Given the description of an element on the screen output the (x, y) to click on. 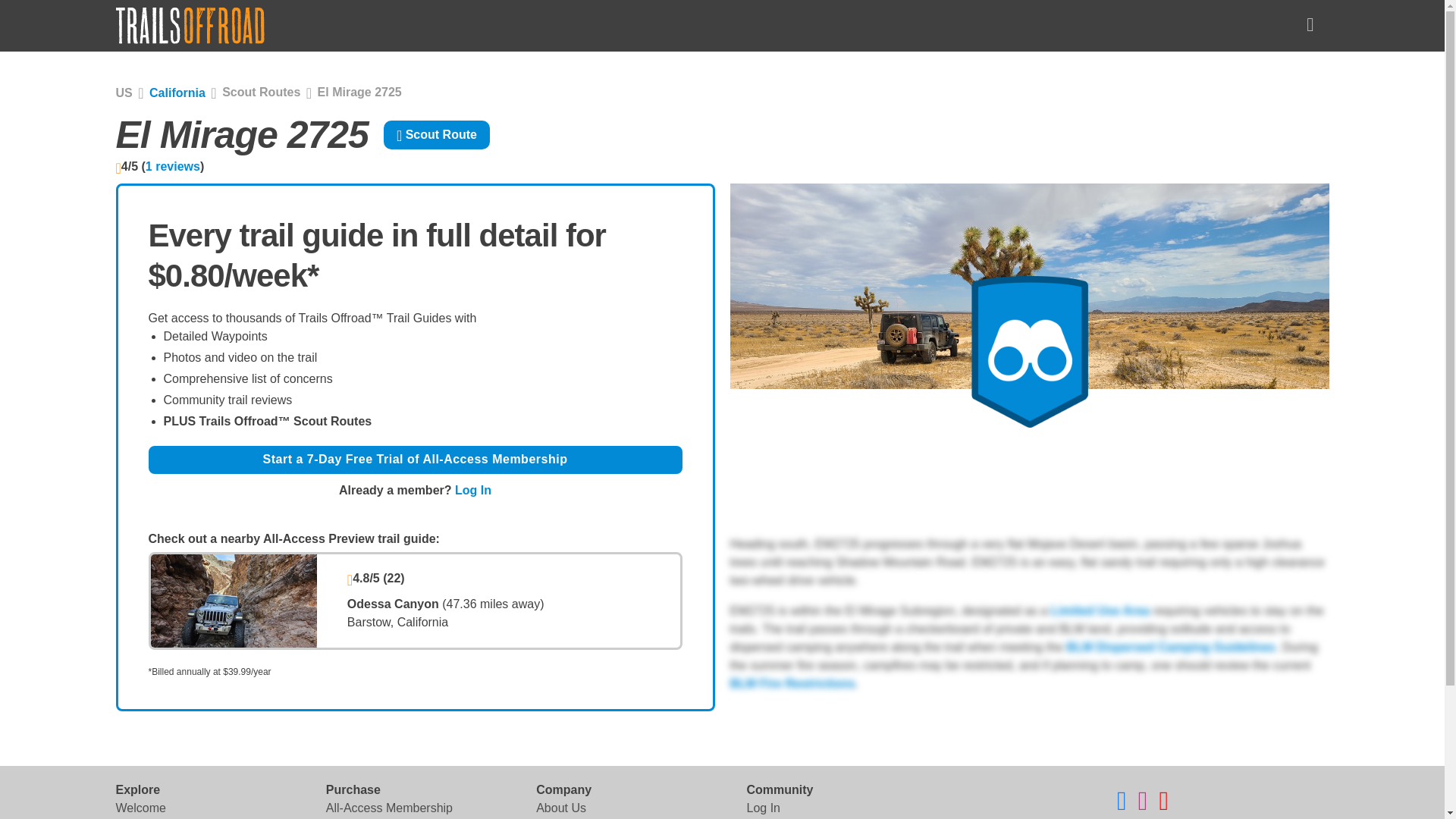
Log In (761, 808)
Start a 7-Day Free Trial of All-Access Membership (415, 459)
Limited Use Area (1100, 610)
Welcome (140, 808)
BLM Fire Restrictions (791, 683)
About Us (560, 808)
Log In (473, 490)
1 reviews (172, 165)
All-Access Membership (389, 808)
California (177, 92)
BLM Dispersed Camping Guidelines (1168, 646)
